Given the description of an element on the screen output the (x, y) to click on. 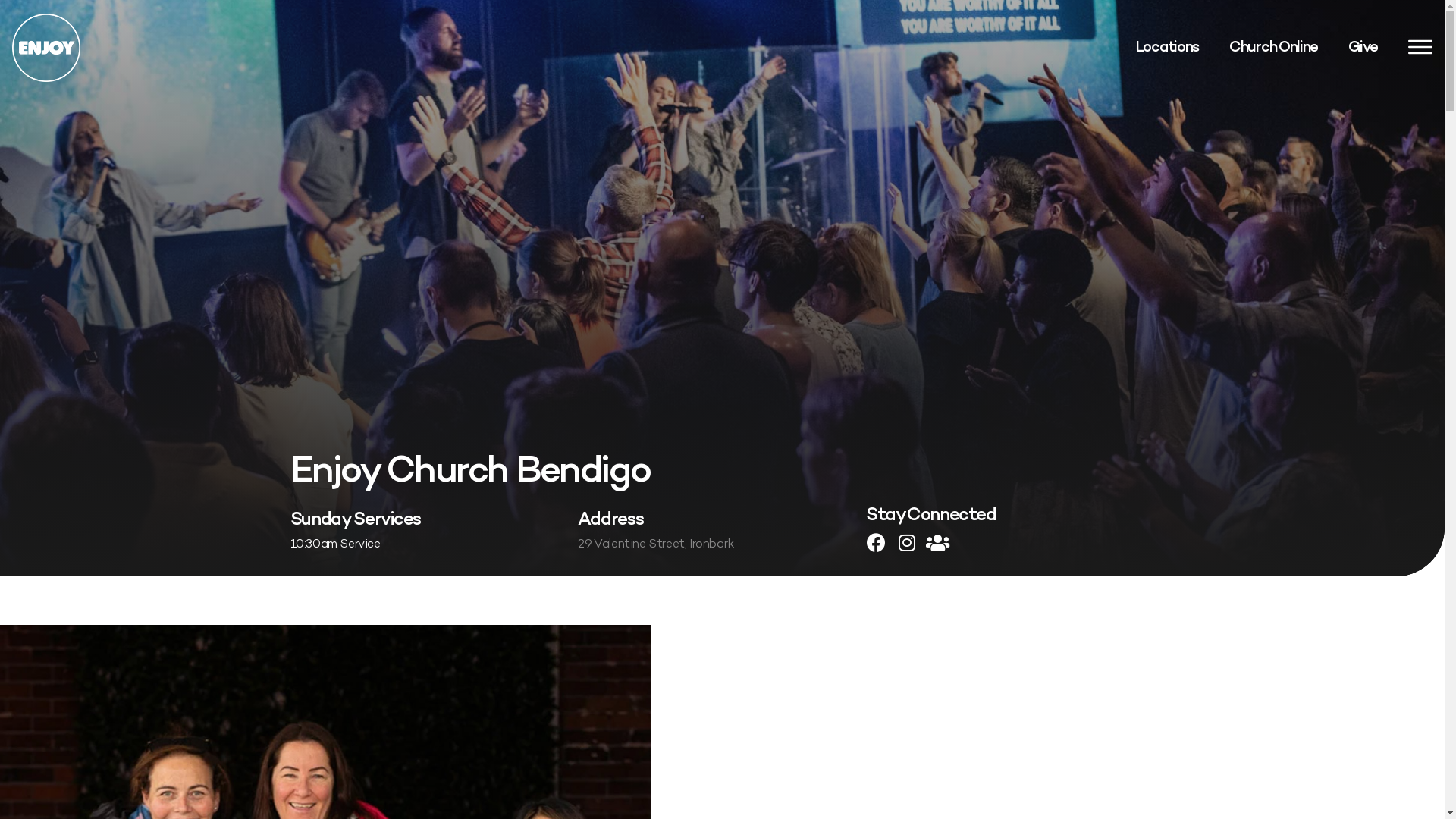
Give Element type: text (1362, 47)
Locations Element type: text (1166, 47)
29 Valentine Street, Ironbark Element type: text (655, 544)
Church Online Element type: text (1273, 47)
